Given the description of an element on the screen output the (x, y) to click on. 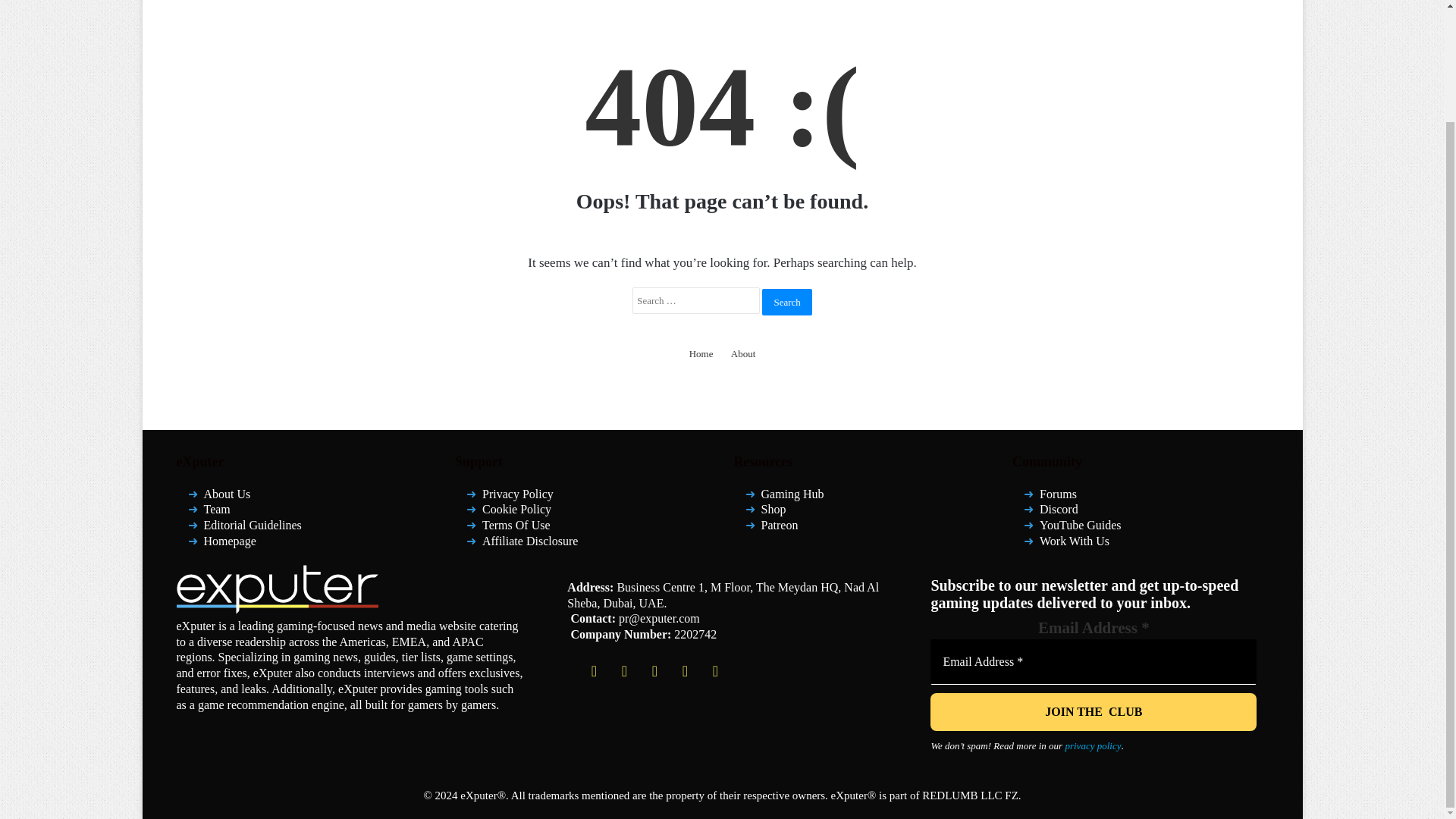
Search (785, 301)
Email Address (1093, 661)
JOIN THE  CLUB (1093, 711)
Search (785, 301)
